Given the description of an element on the screen output the (x, y) to click on. 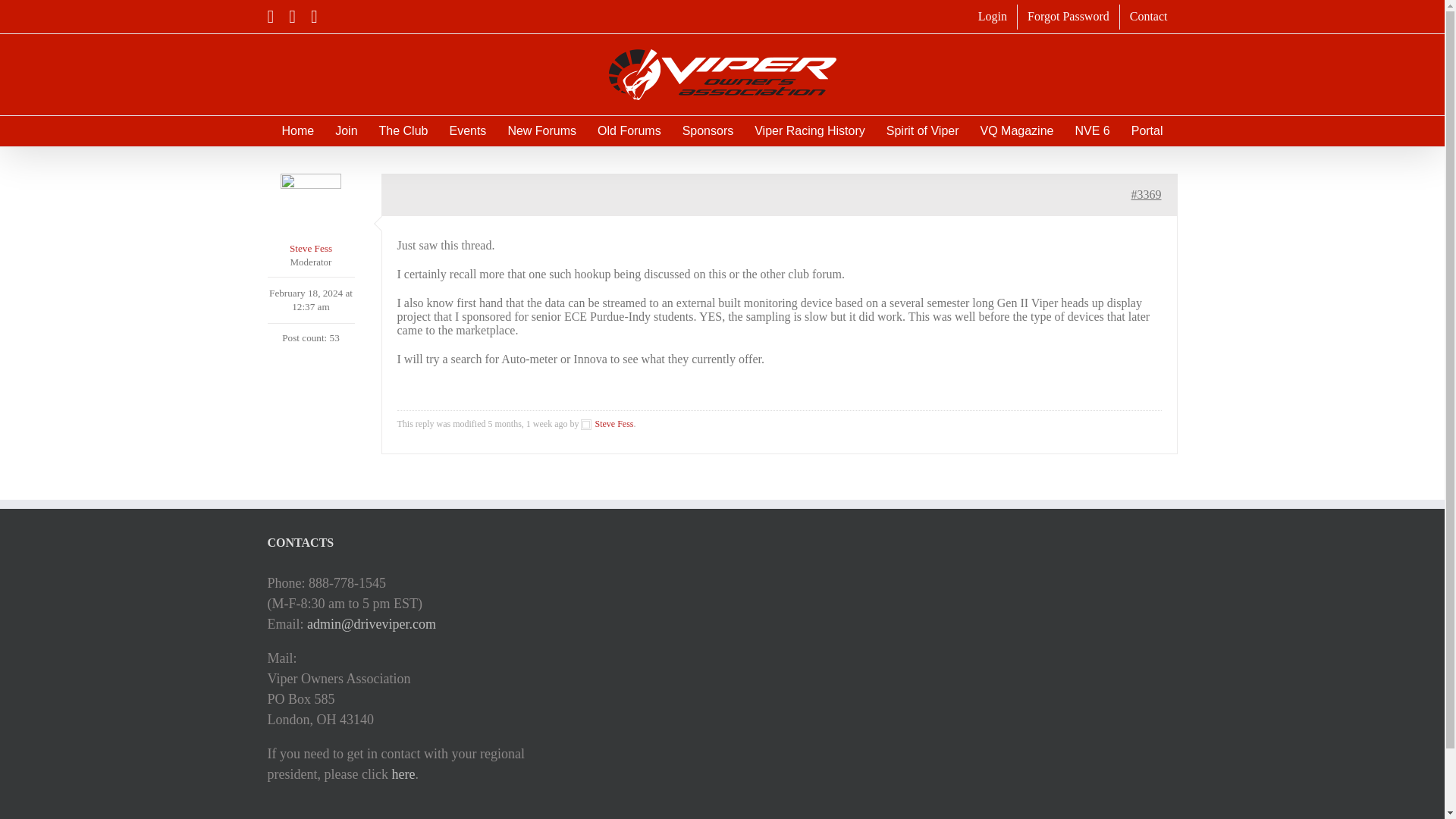
Contact (1148, 16)
Home (297, 131)
Portal (1147, 131)
Viper Racing History (809, 131)
View Steve Fess's profile (309, 214)
View Steve Fess's profile (606, 423)
Forgot Password (1068, 16)
Login (992, 16)
Old Forums (628, 131)
VQ Magazine (1016, 131)
New Forums (541, 131)
NVE 6 (1091, 131)
The Club (403, 131)
Sponsors (707, 131)
Events (467, 131)
